Given the description of an element on the screen output the (x, y) to click on. 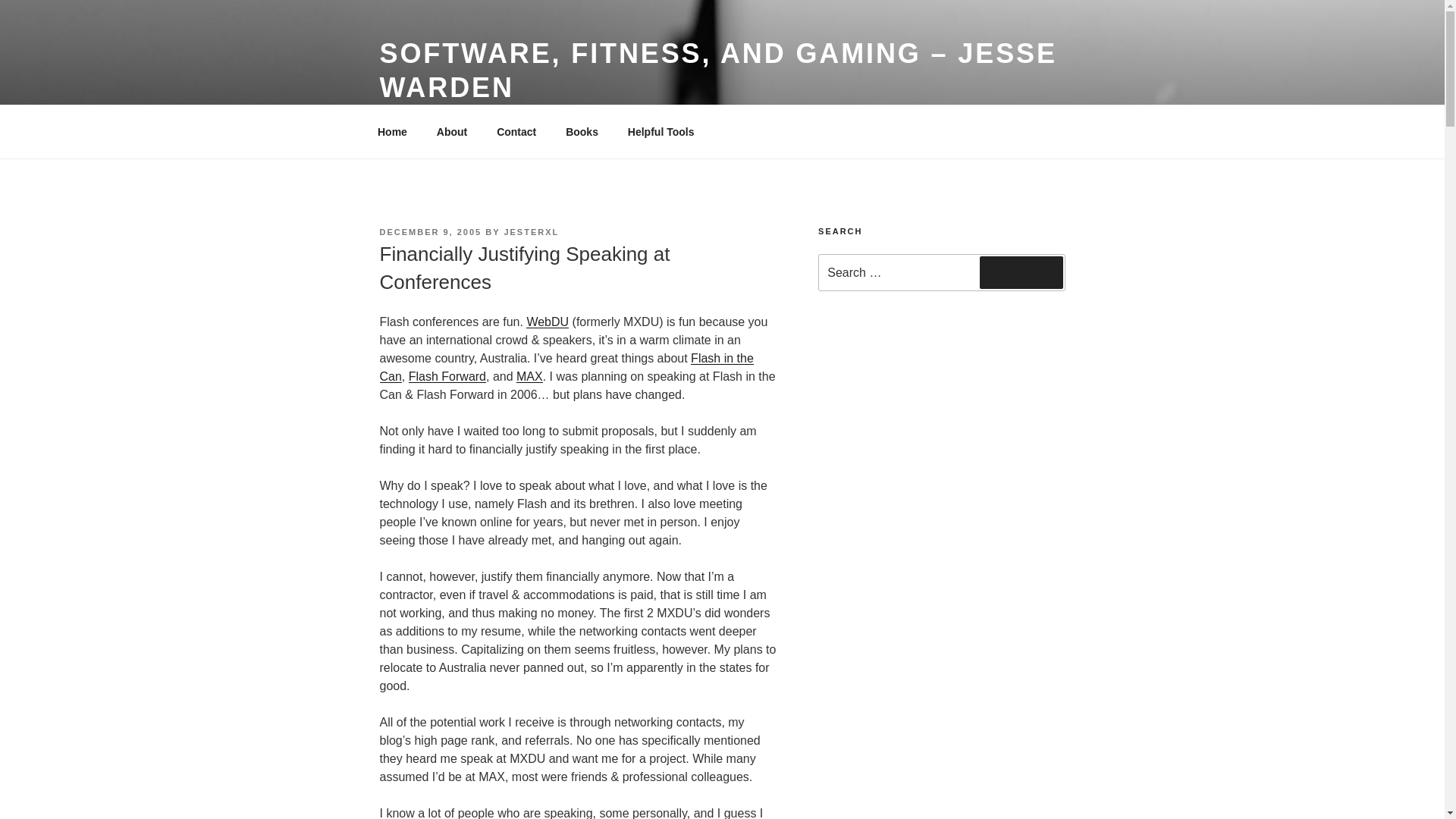
Home (392, 131)
About (451, 131)
Helpful Tools (660, 131)
JESTERXL (531, 231)
Flash in the Can (565, 367)
MAX (529, 376)
DECEMBER 9, 2005 (429, 231)
Contact (516, 131)
Books (582, 131)
Flash Forward (447, 376)
Home (392, 131)
WebDU (547, 321)
